Given the description of an element on the screen output the (x, y) to click on. 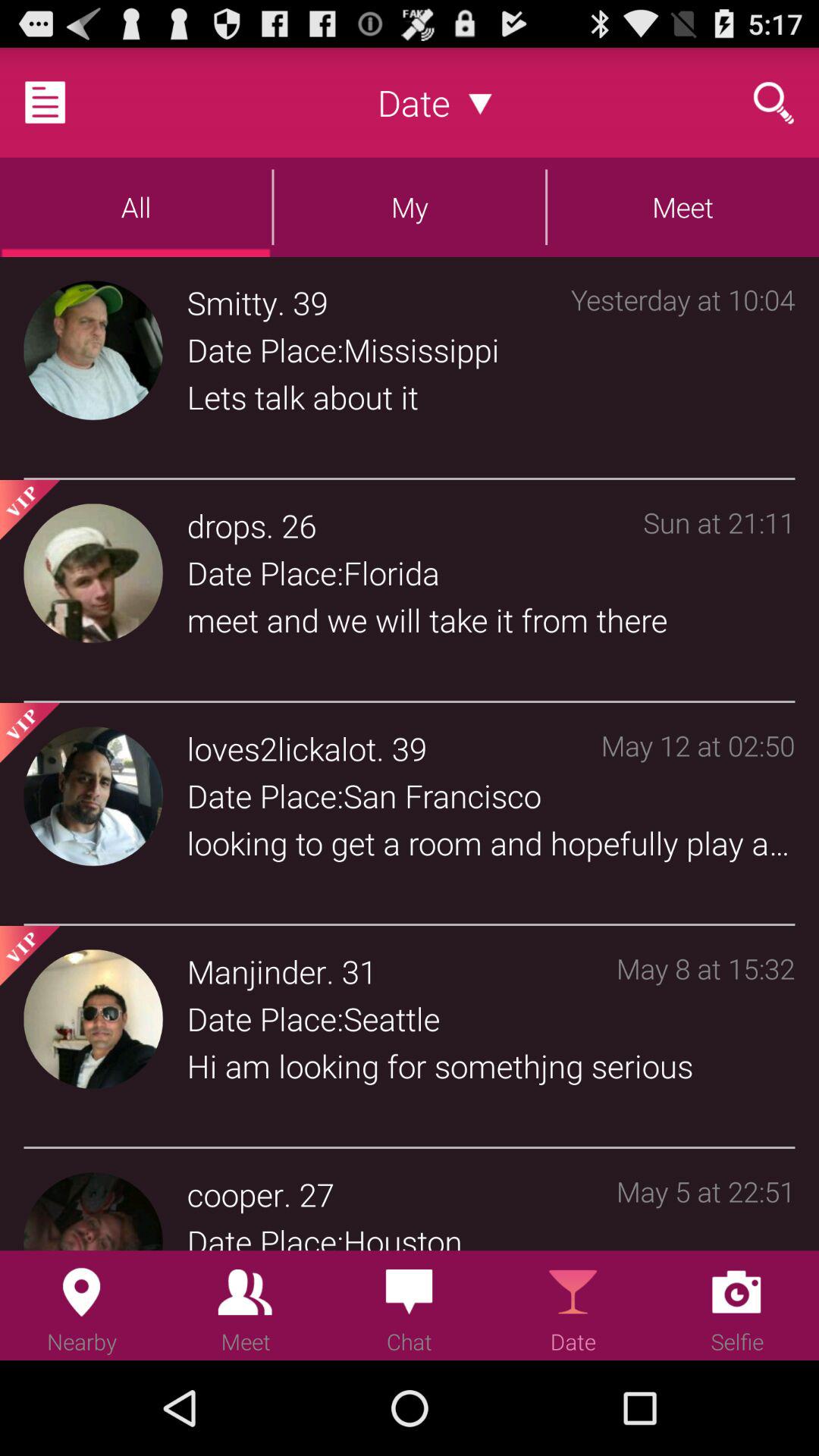
press app to the left of may 8 at app (359, 971)
